Given the description of an element on the screen output the (x, y) to click on. 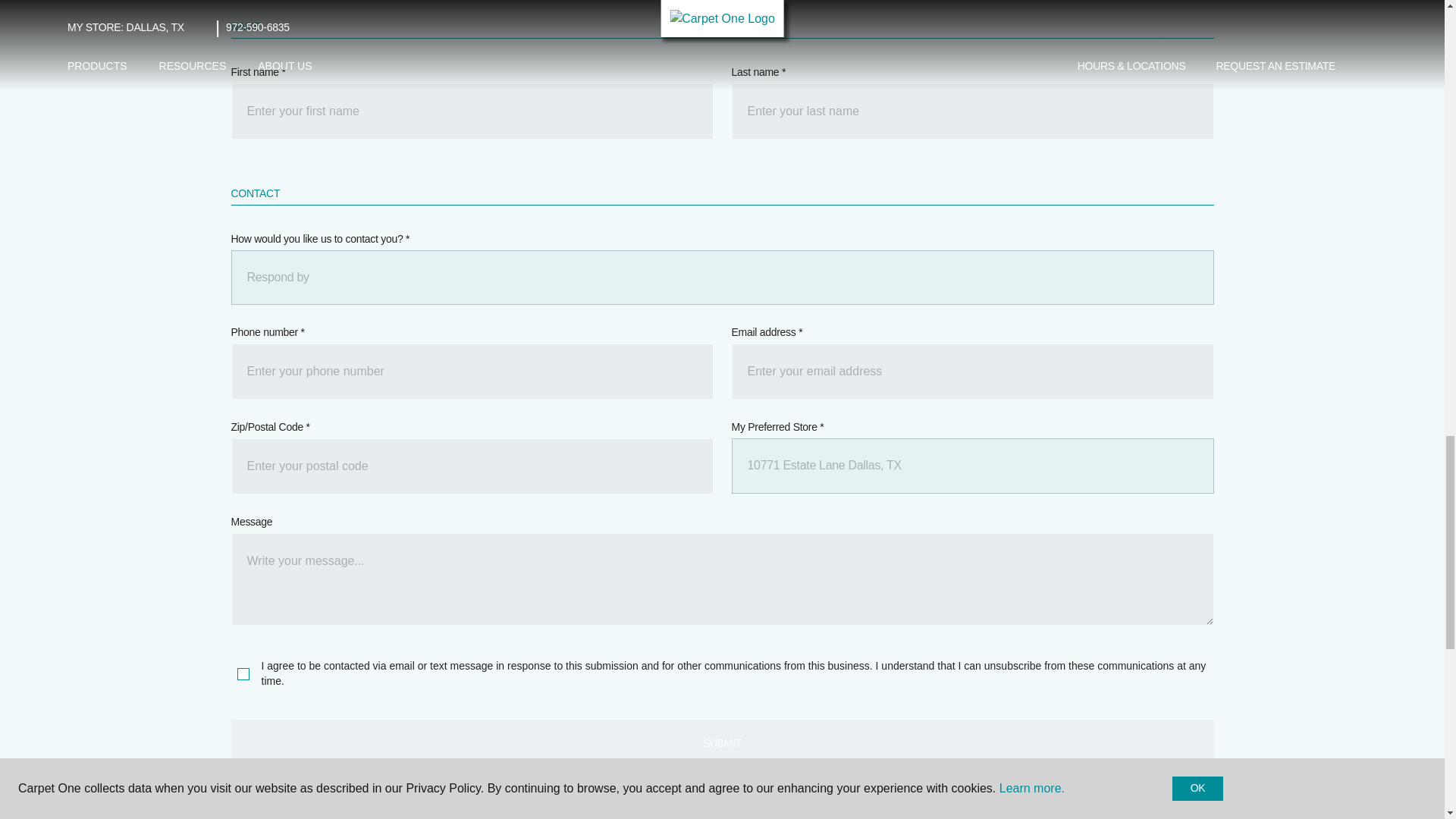
FirstName (471, 111)
EmailAddress (971, 371)
LastName (971, 111)
MyMessage (721, 579)
PostalCode (471, 466)
CleanHomePhone (471, 371)
